Given the description of an element on the screen output the (x, y) to click on. 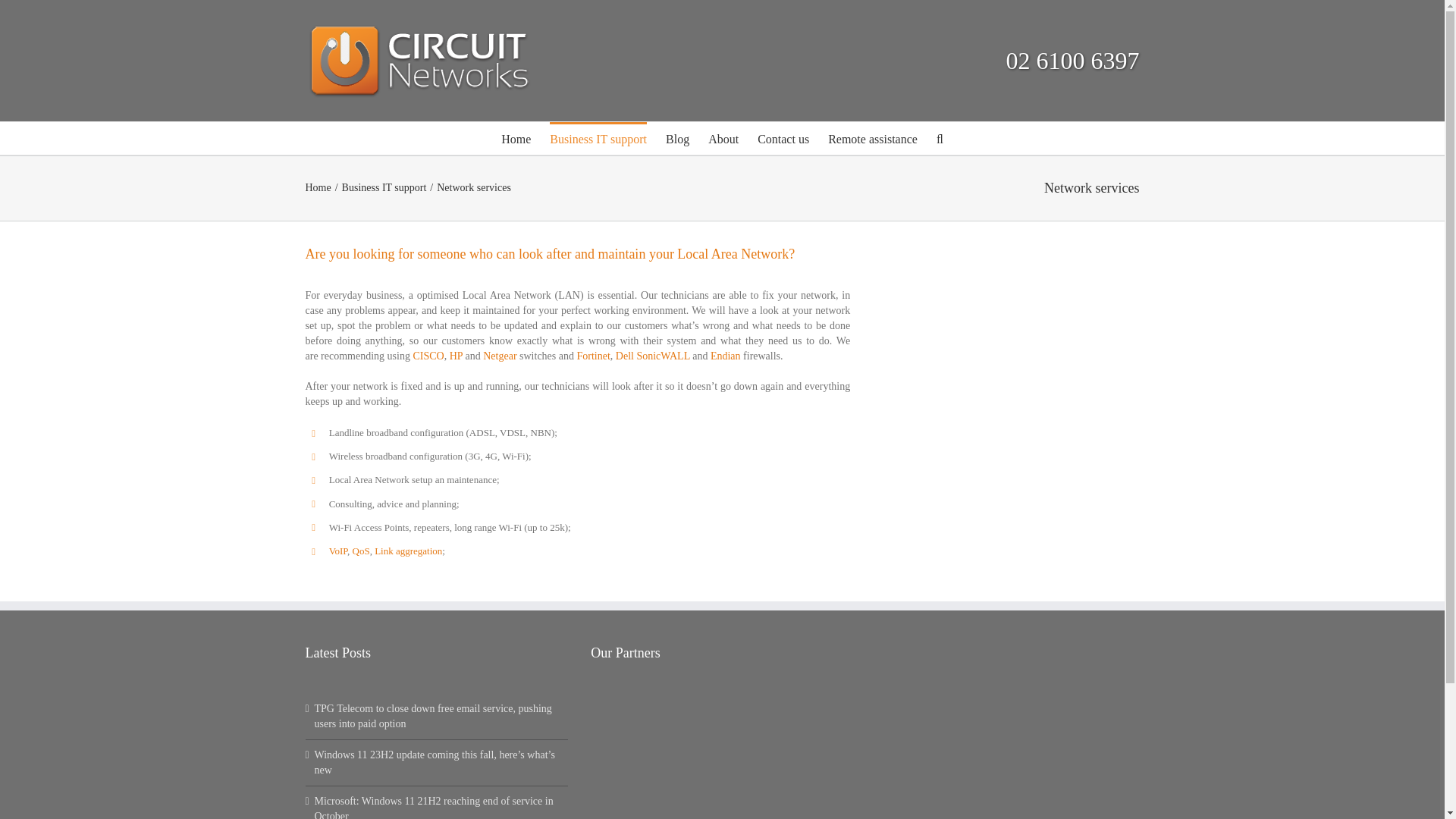
About (722, 138)
Remote assistance (872, 138)
Fortinet (593, 355)
Endian (725, 355)
HP (456, 355)
Business IT support (598, 138)
Home (317, 187)
Link aggregation (408, 550)
Home (515, 138)
QoS (360, 550)
